Given the description of an element on the screen output the (x, y) to click on. 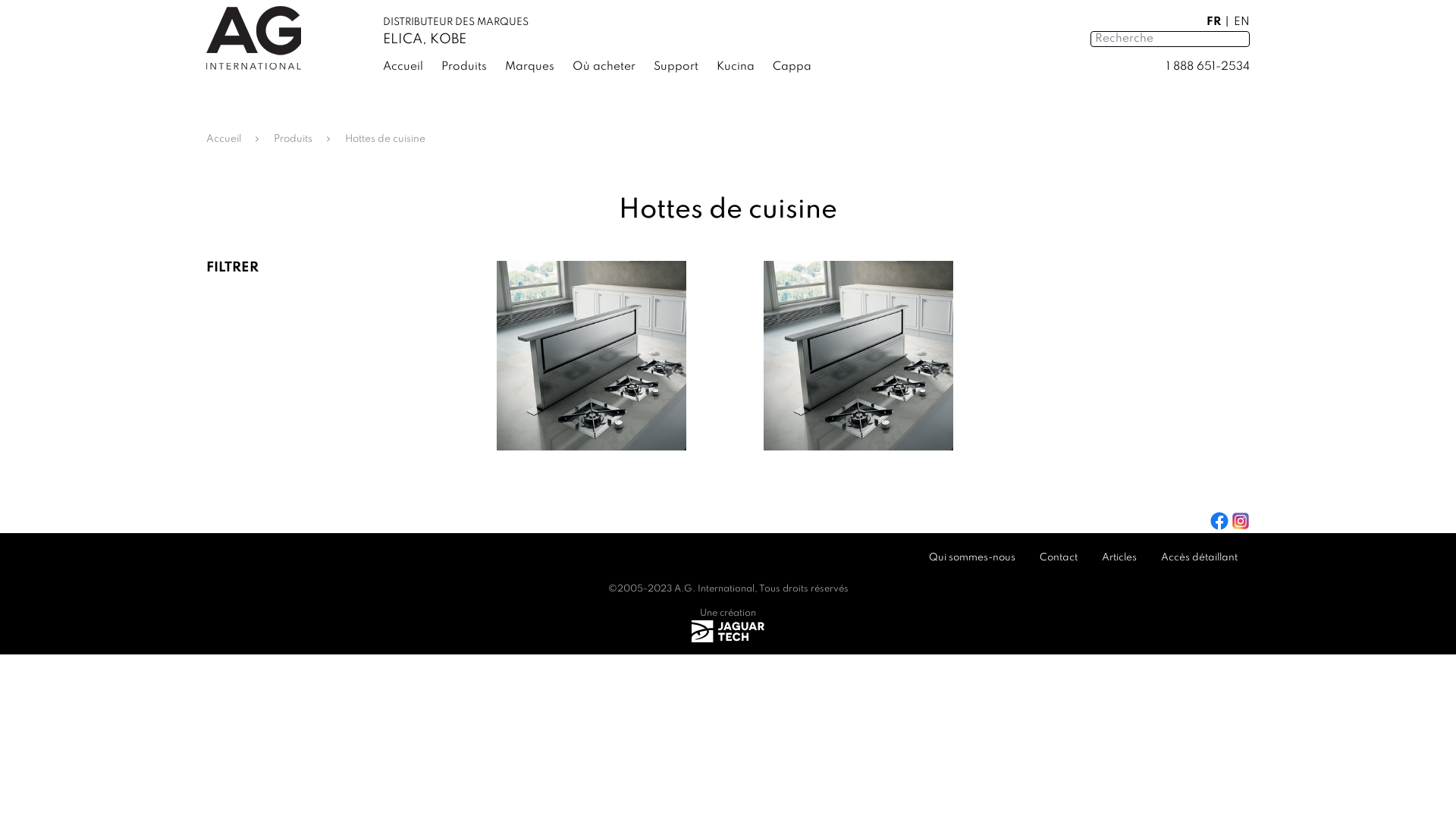
Accueil Element type: text (223, 139)
EN Element type: text (1241, 21)
A.G. International Element type: text (713, 588)
Contact Element type: text (1058, 558)
Accueil Element type: text (411, 63)
KOBE Element type: text (447, 39)
Support Element type: text (684, 63)
Produits Element type: text (292, 139)
 ELICA ERS636S1 Element type: hover (858, 355)
 ELICA ERS630S1 Element type: hover (591, 355)
Qui sommes-nous Element type: text (971, 558)
Cappa Element type: text (800, 63)
Jaguar Tech Element type: hover (727, 630)
Articles Element type: text (1118, 558)
ELICA Element type: text (402, 39)
Produits Element type: text (473, 63)
A.G. International Element type: hover (253, 37)
Kucina Element type: text (744, 63)
Marques Element type: text (538, 63)
